Given the description of an element on the screen output the (x, y) to click on. 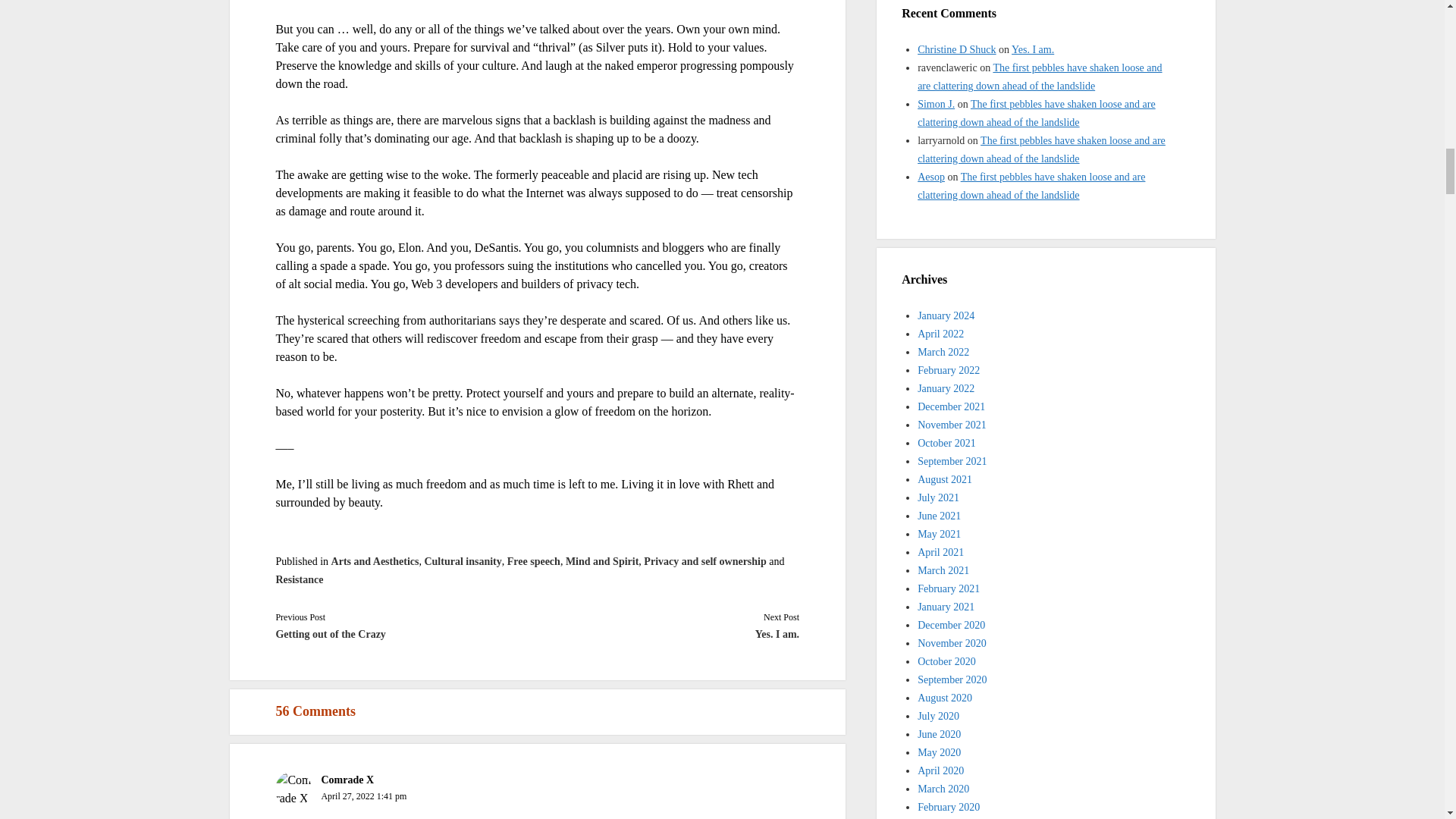
View all posts in Cultural insanity (461, 561)
Cultural insanity (461, 561)
Mind and Spirit (602, 561)
Getting out of the Crazy (406, 634)
Free speech (533, 561)
View all posts in Free speech (533, 561)
View all posts in Resistance (299, 579)
View all posts in Arts and Aesthetics (375, 561)
Yes. I am. (668, 634)
View all posts in Privacy and self ownership (704, 561)
Privacy and self ownership (704, 561)
Arts and Aesthetics (375, 561)
View all posts in Mind and Spirit (602, 561)
Resistance (299, 579)
